Given the description of an element on the screen output the (x, y) to click on. 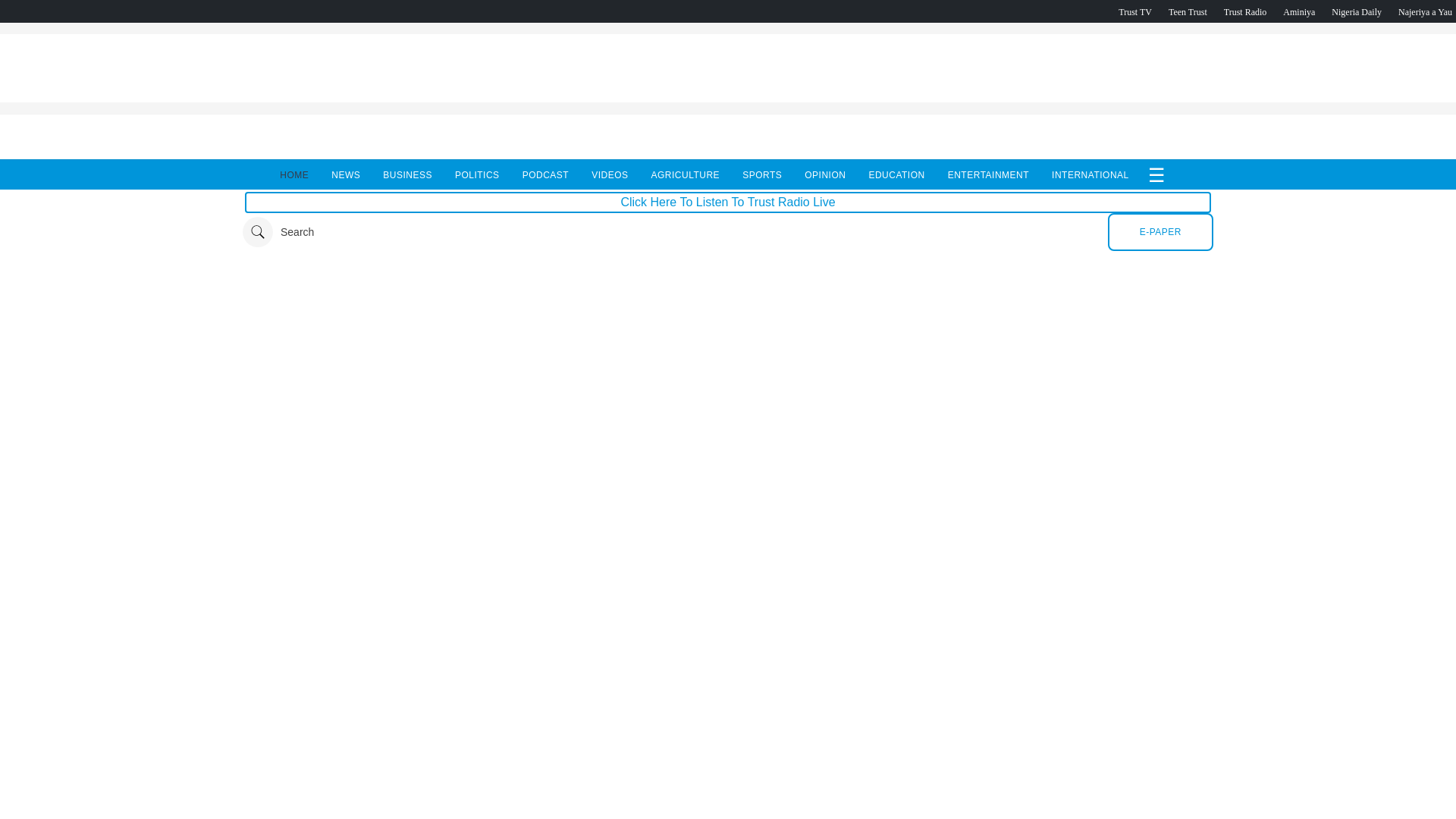
E-Paper Subscription (1160, 231)
Nigeria Daily (1356, 11)
Teen Trust (1188, 11)
Trust Radio Live (1245, 11)
NEWS (345, 174)
HOME (294, 174)
Dailytrust (727, 231)
Najeriya a Yau (1424, 11)
Aminiya (1298, 11)
Saurari Shirye Shiryenmu (1424, 11)
